Given the description of an element on the screen output the (x, y) to click on. 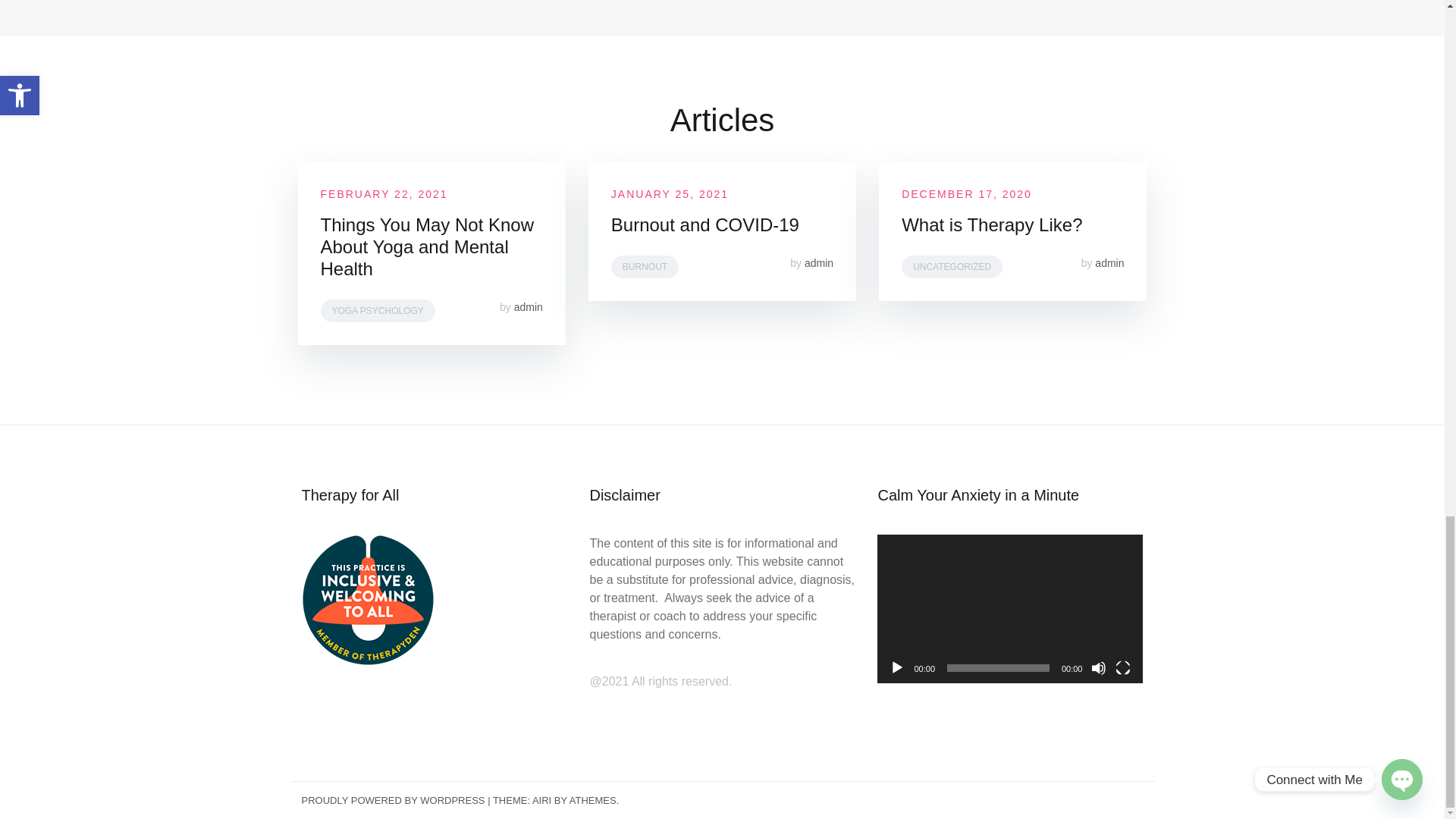
Mute (1098, 667)
admin (528, 306)
YOGA PSYCHOLOGY (376, 310)
Proud Member of TherapyDen (367, 598)
Things You May Not Know About Yoga and Mental Health (427, 246)
Play (896, 667)
Burnout and COVID-19 (705, 224)
FEBRUARY 22, 2021 (383, 193)
Fullscreen (1123, 667)
JANUARY 25, 2021 (670, 193)
